Given the description of an element on the screen output the (x, y) to click on. 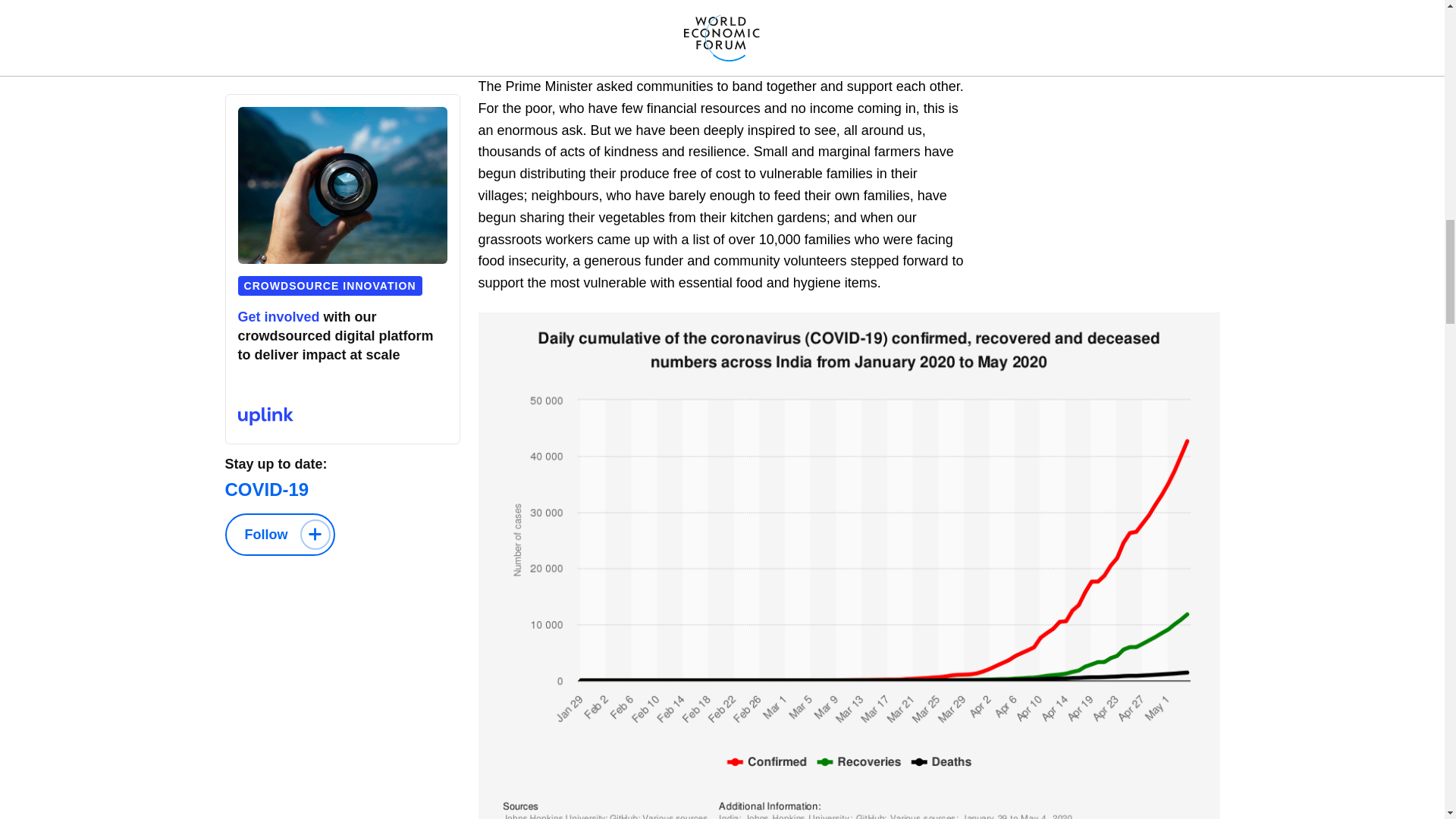
Follow (279, 534)
